Given the description of an element on the screen output the (x, y) to click on. 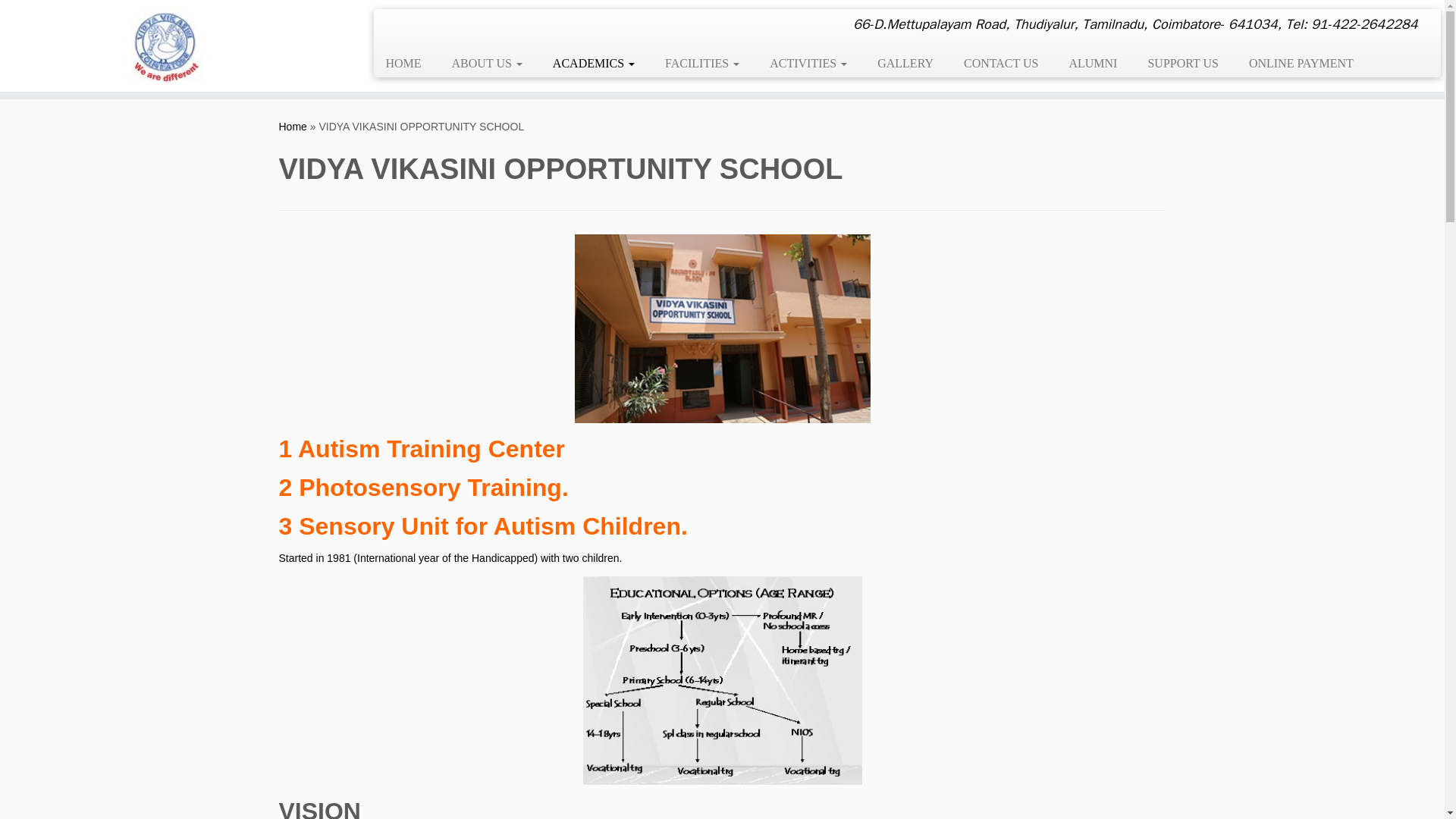
Vidyavikasini Online payment (1293, 62)
ABOUT US (486, 62)
HOME (408, 62)
VIDYA VIKASINI INSTITUTIONS (293, 126)
ACADEMICS (593, 62)
